Given the description of an element on the screen output the (x, y) to click on. 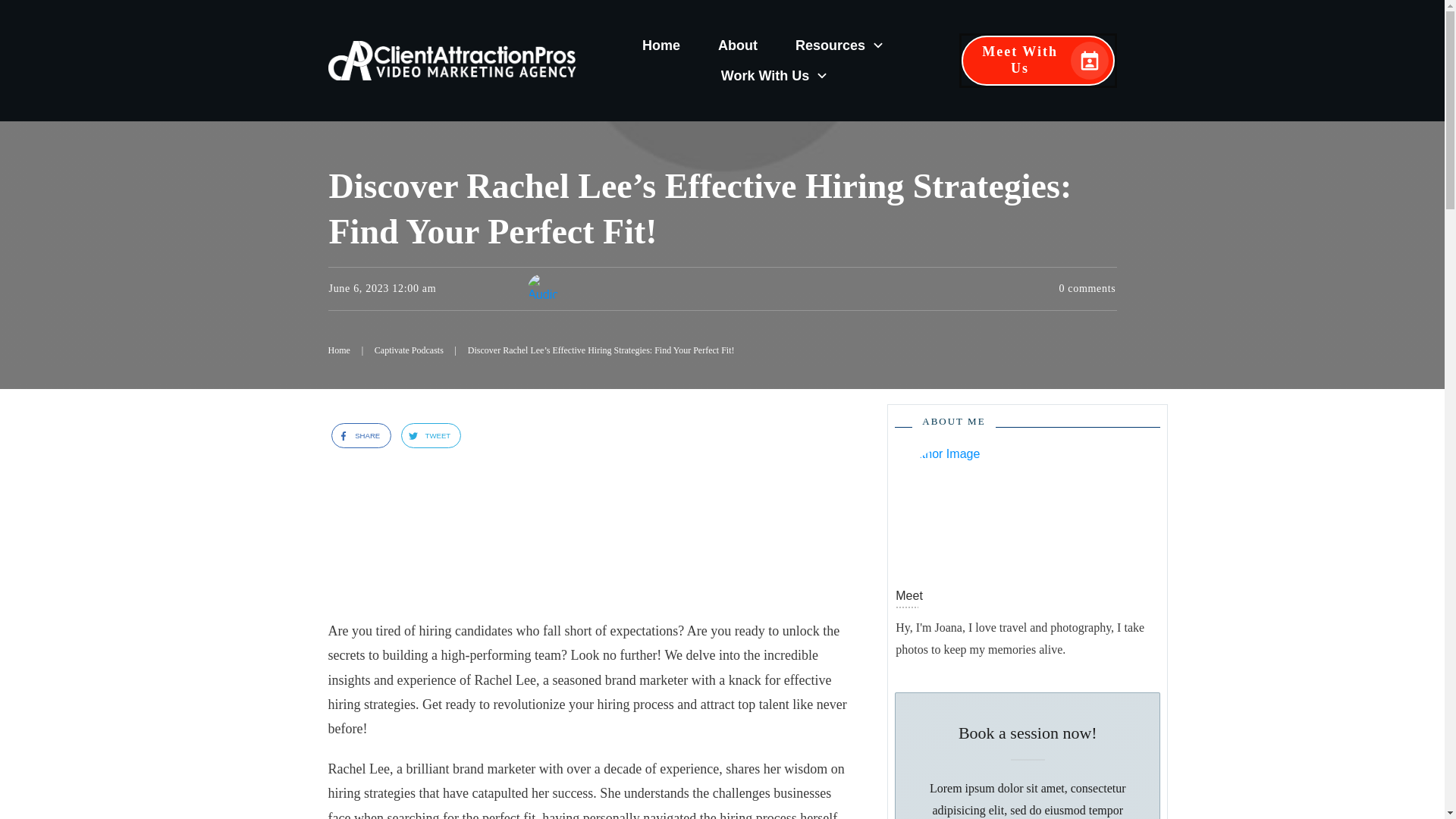
Meet With Us (1037, 60)
undefined (957, 507)
TWEET (425, 435)
Audio 02 (542, 288)
Resources (839, 44)
Captivate Podcasts (409, 351)
Home (660, 44)
Home (338, 351)
About (737, 44)
Work With Us (774, 75)
